Given the description of an element on the screen output the (x, y) to click on. 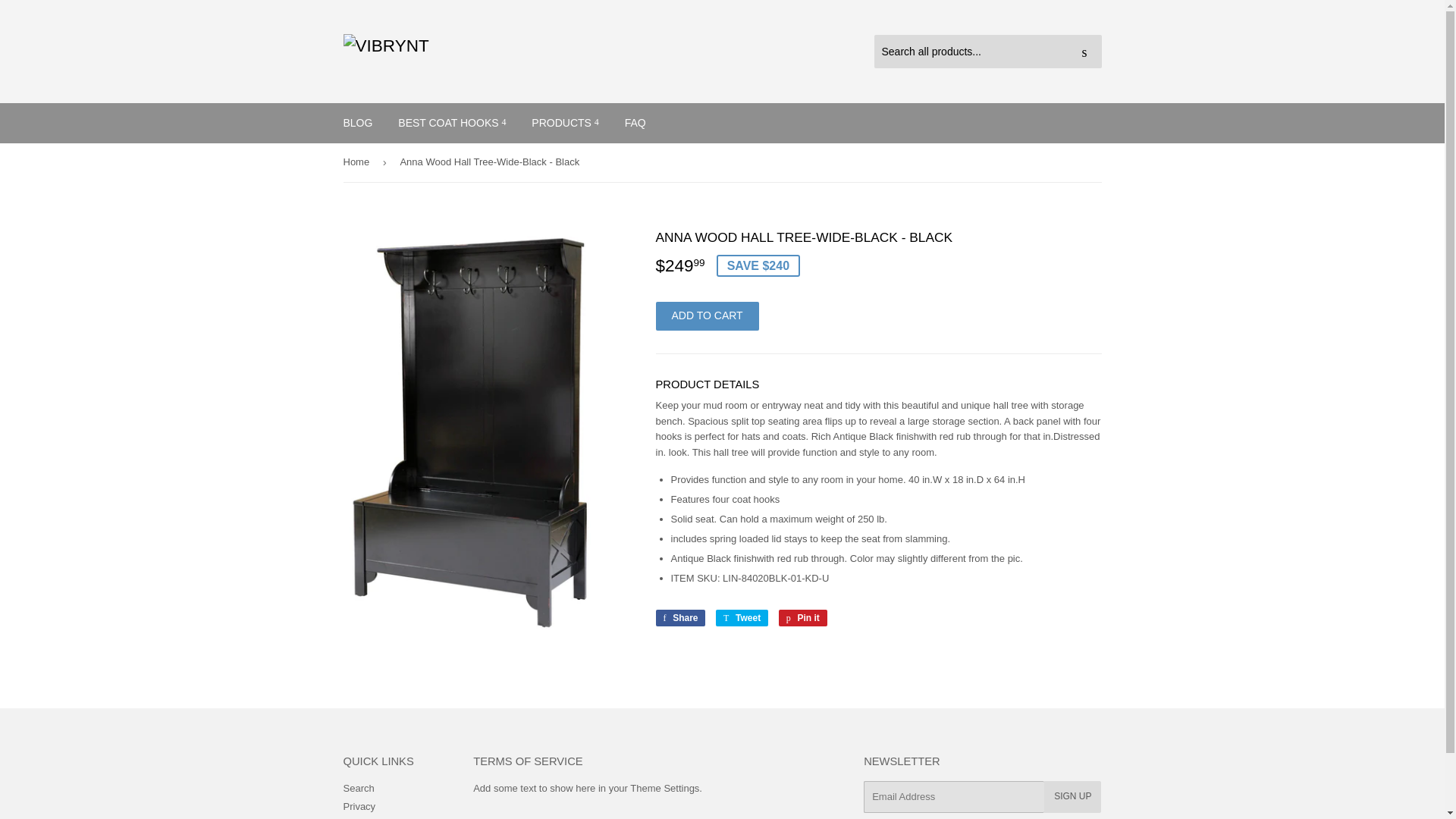
Back to the frontpage (358, 162)
Search (1084, 51)
BEST COAT HOOKS (451, 122)
Tweet on Twitter (742, 617)
ADD TO CART (706, 316)
Home (358, 162)
Pin on Pinterest (802, 617)
Search (358, 787)
FAQ (635, 122)
Share on Facebook (679, 617)
PRODUCTS (564, 122)
Theme Settings (664, 787)
SIGN UP (1071, 797)
BLOG (679, 617)
